Given the description of an element on the screen output the (x, y) to click on. 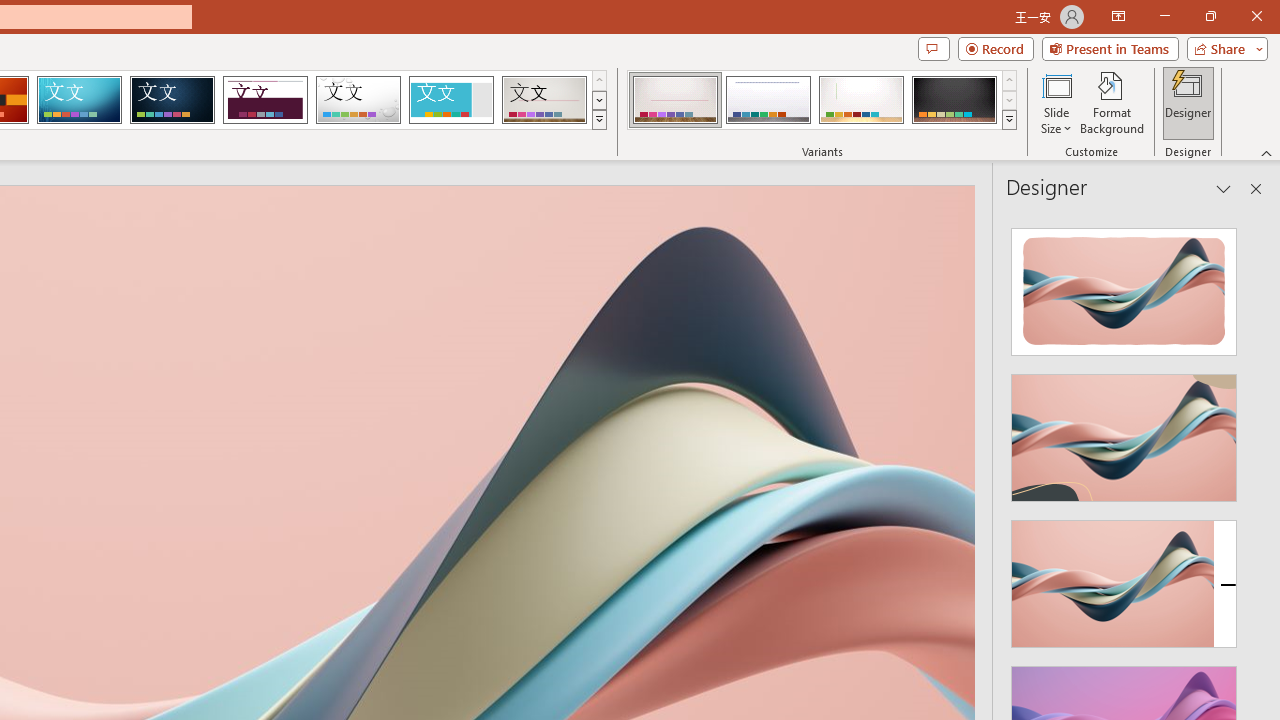
Recommended Design: Design Idea (1124, 286)
Frame (450, 100)
Gallery Variant 4 (953, 100)
Circuit (79, 100)
Gallery Variant 2 (768, 100)
AutomationID: ThemeVariantsGallery (822, 99)
Variants (1009, 120)
Gallery Variant 1 (674, 100)
